Given the description of an element on the screen output the (x, y) to click on. 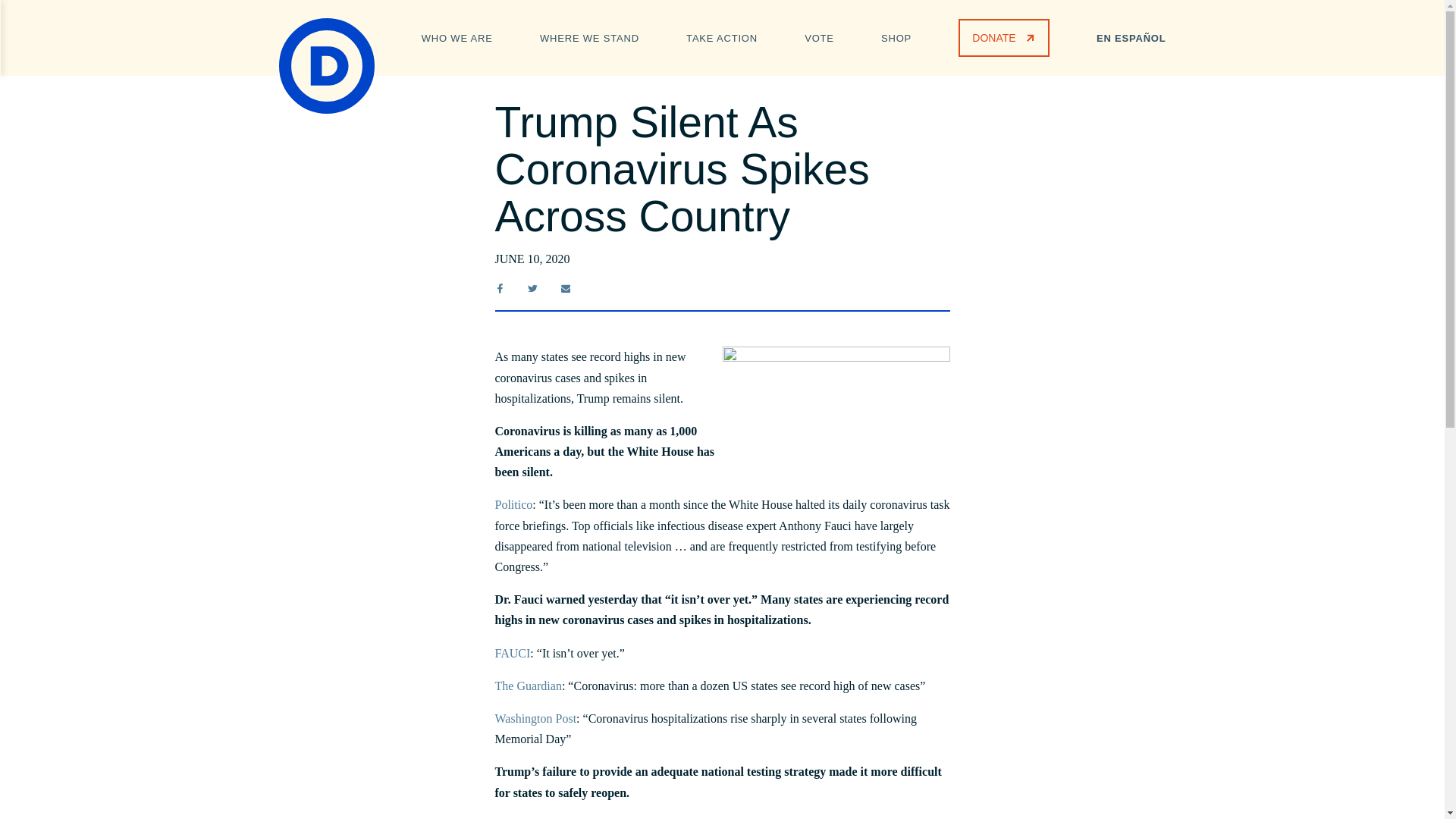
SHOP (895, 36)
twitter (532, 288)
DNC (326, 65)
facebook (499, 288)
WHO WE ARE (457, 36)
WHERE WE STAND (589, 36)
TAKE ACTION (721, 36)
VOTE (819, 36)
email (565, 288)
DONATE (1003, 37)
